Given the description of an element on the screen output the (x, y) to click on. 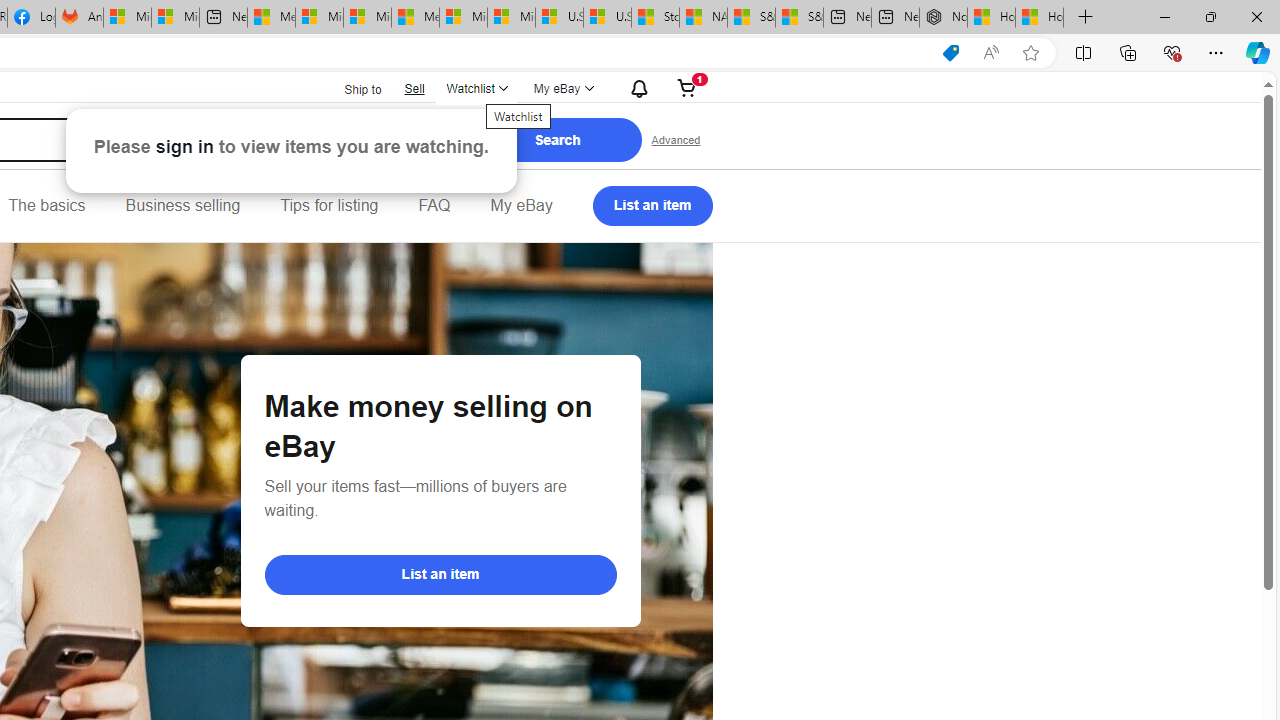
FAQ (434, 205)
Tips for listing (329, 205)
AutomationID: gh-eb-Alerts (636, 88)
Microsoft account | Home (367, 17)
Ship to (349, 88)
Sell (413, 87)
List an item (439, 574)
Select a category for search (379, 139)
List an item (651, 205)
The basics (46, 205)
